Given the description of an element on the screen output the (x, y) to click on. 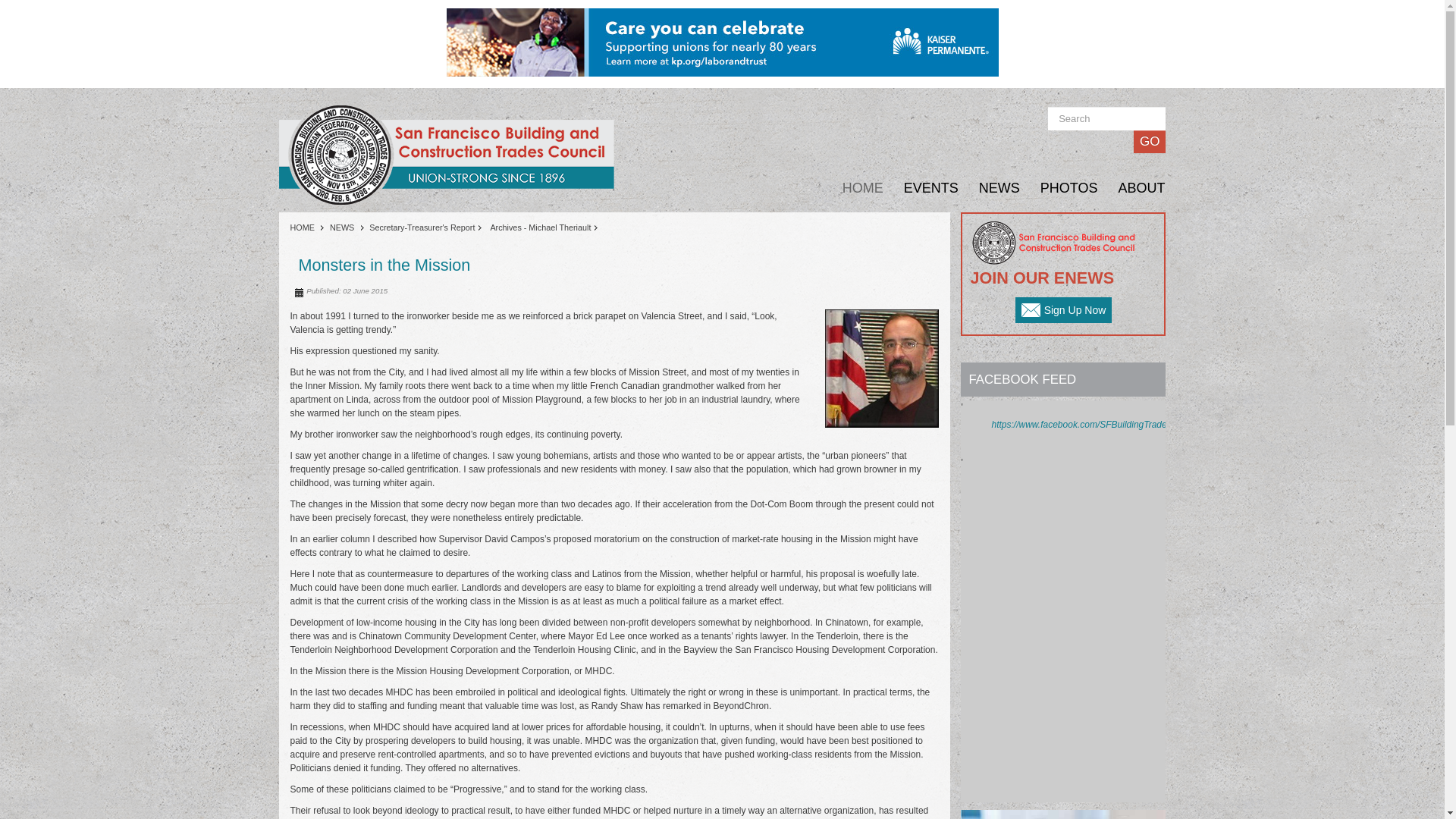
HOME (852, 187)
EVENTS (920, 187)
PHOTOS (1058, 187)
Return to the home pager. (449, 154)
Search (1107, 118)
GO (1150, 141)
ABOUT (1130, 187)
HOME (309, 226)
KAISER TOP BANNER (721, 41)
Michael Theriault (882, 368)
